Given the description of an element on the screen output the (x, y) to click on. 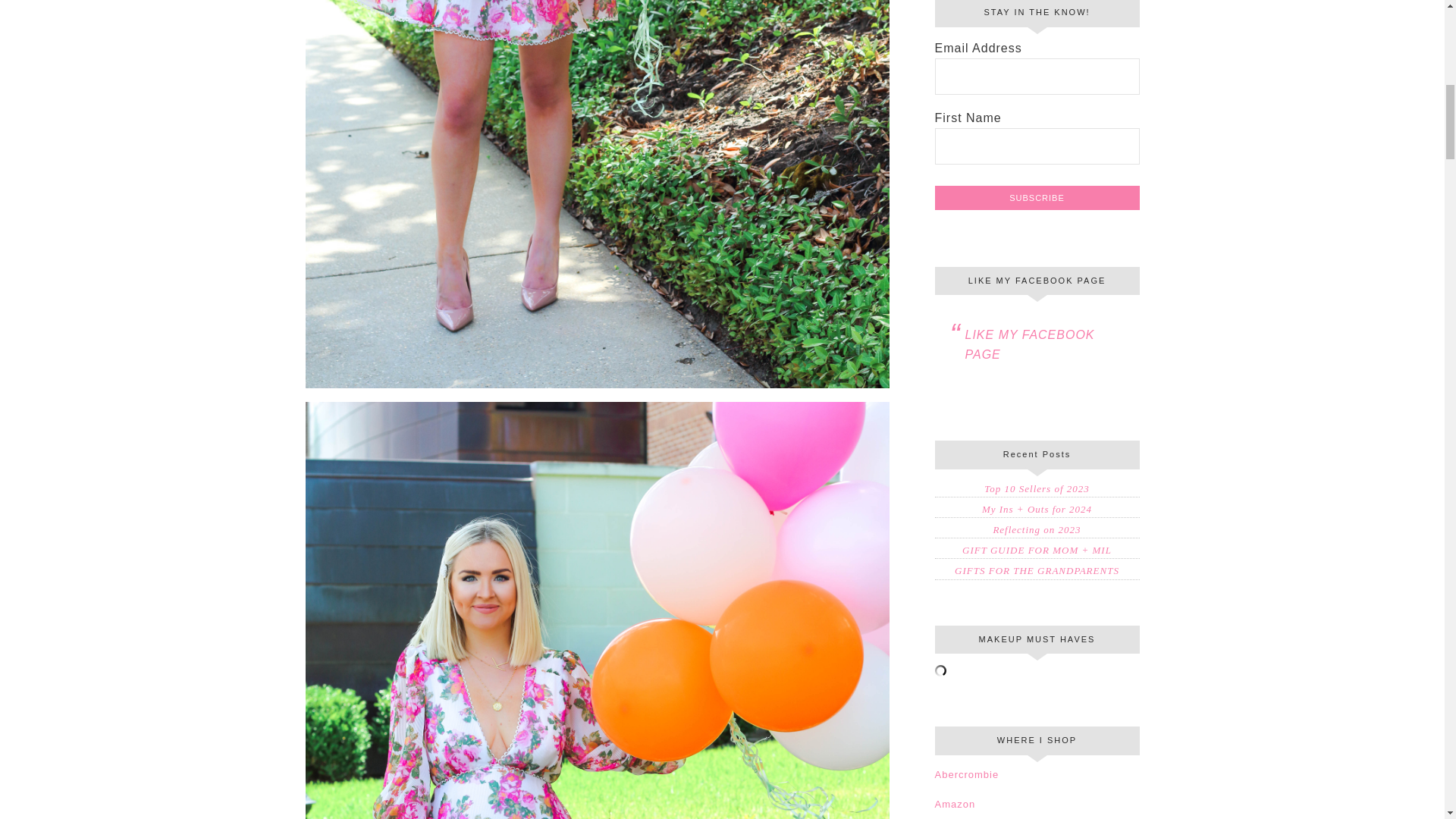
Subscribe (1036, 197)
